Given the description of an element on the screen output the (x, y) to click on. 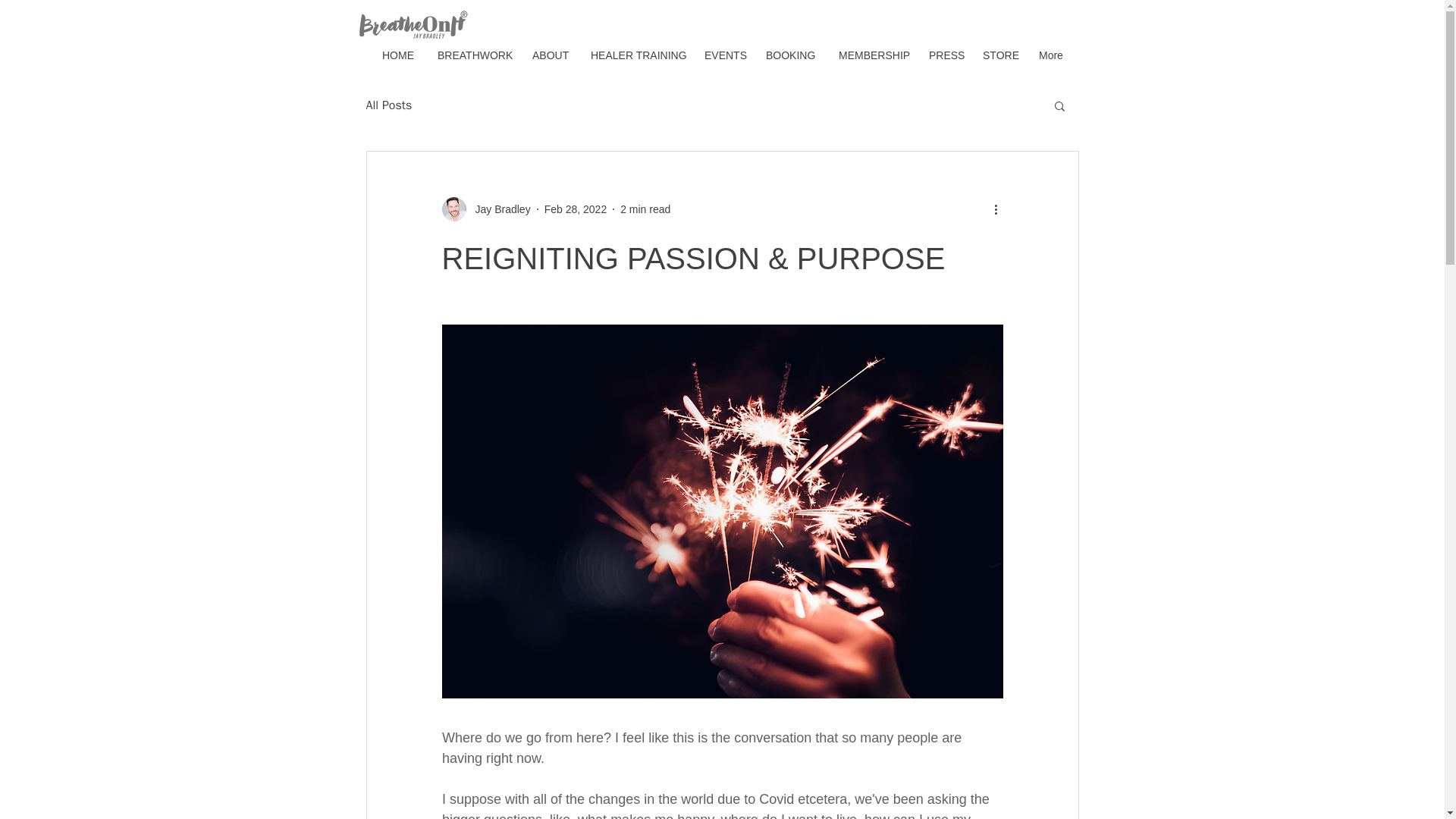
HEALER TRAINING (636, 55)
Jay Bradley (497, 209)
2 min read (644, 209)
ABOUT (550, 55)
HOME (398, 55)
All Posts (388, 105)
Feb 28, 2022 (575, 209)
BREATHWORK (473, 55)
Jay Bradley (485, 209)
EVENTS (723, 55)
